Given the description of an element on the screen output the (x, y) to click on. 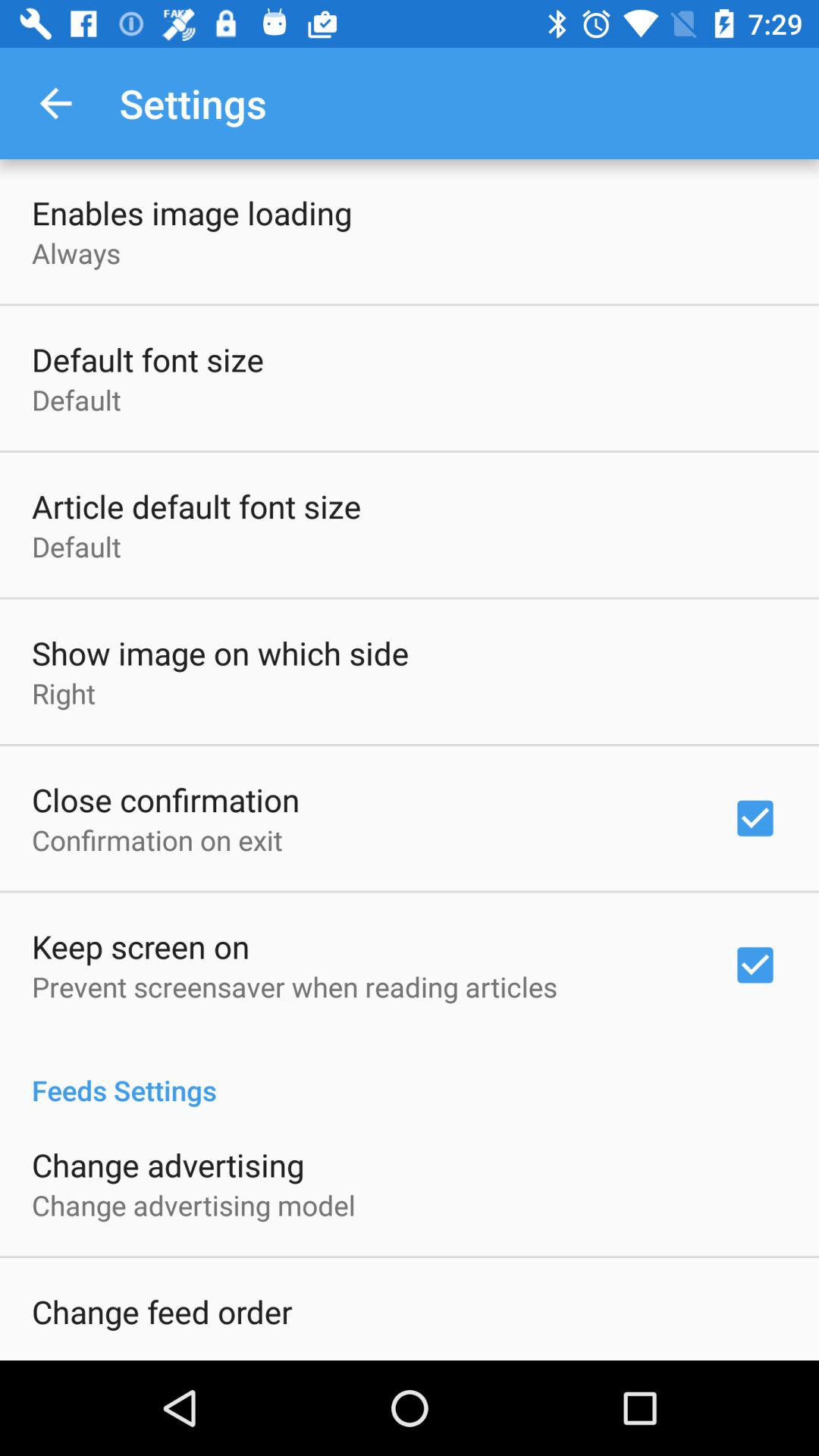
open keep screen on item (140, 946)
